Given the description of an element on the screen output the (x, y) to click on. 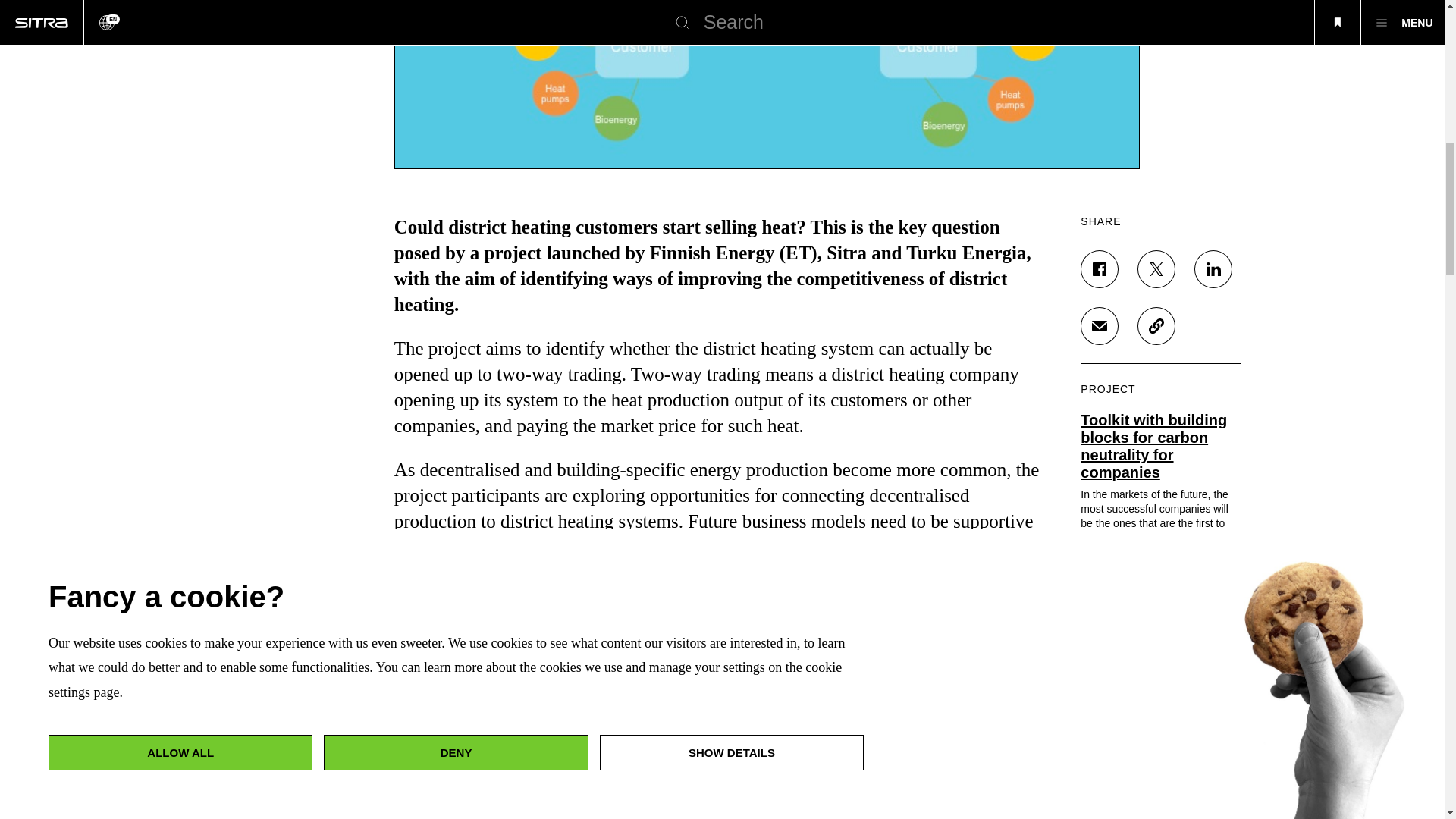
DENY (455, 144)
ALLOW ALL (180, 224)
SHOW DETAILS (731, 58)
